Given the description of an element on the screen output the (x, y) to click on. 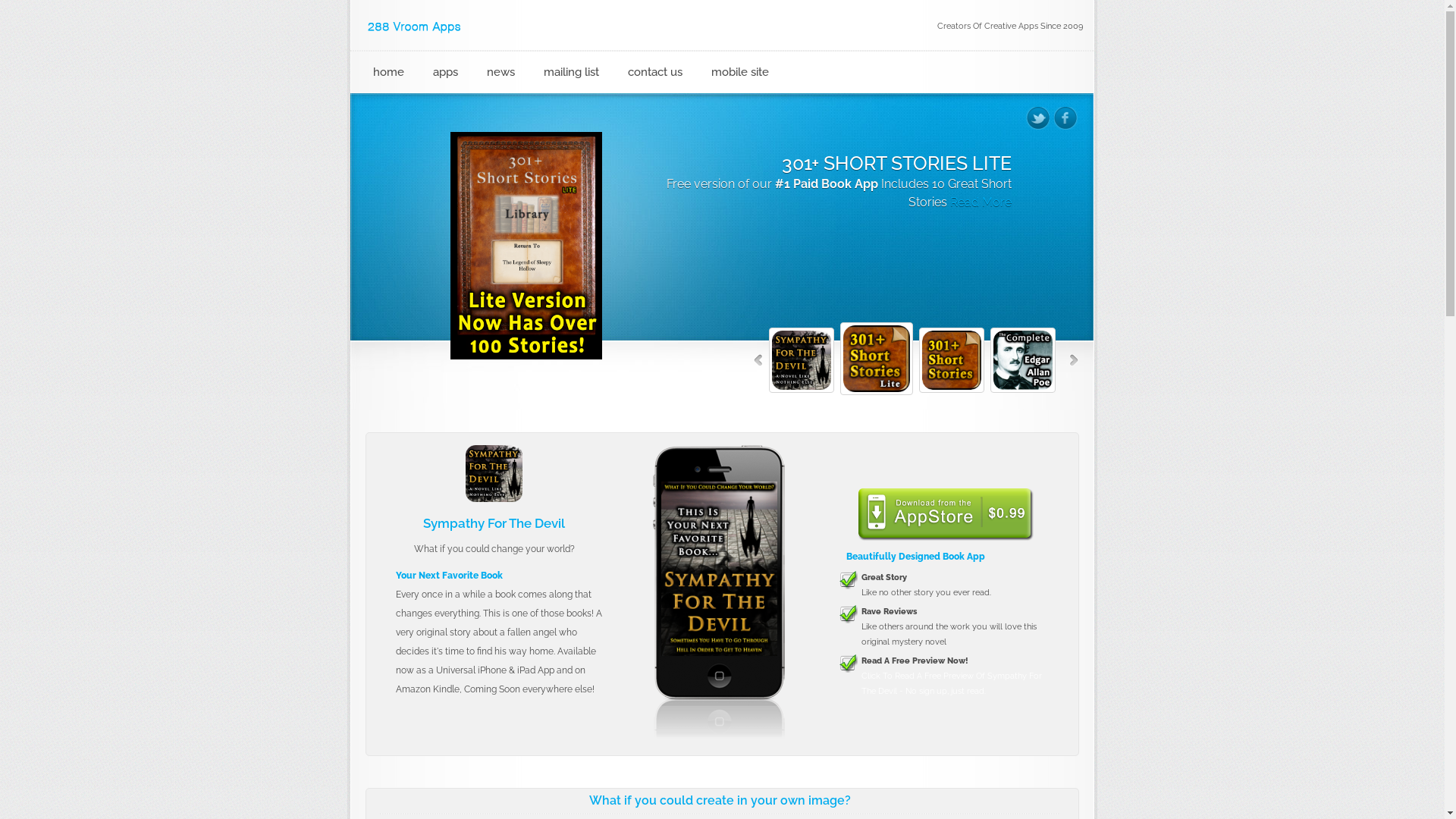
news Element type: text (500, 71)
mobile site Element type: text (739, 71)
home Element type: text (388, 71)
contact us Element type: text (655, 71)
Get Sympathy For The Devil Now In The AppStore Element type: hover (944, 513)
288 Vroom Element type: text (415, 27)
facebook-ico Element type: text (1065, 117)
Read More Element type: text (809, 220)
Sun Tzu's The Art Of War  Element type: hover (719, 568)
mailing list Element type: text (570, 71)
twitter-ico Element type: text (1037, 117)
apps Element type: text (445, 71)
